Given the description of an element on the screen output the (x, y) to click on. 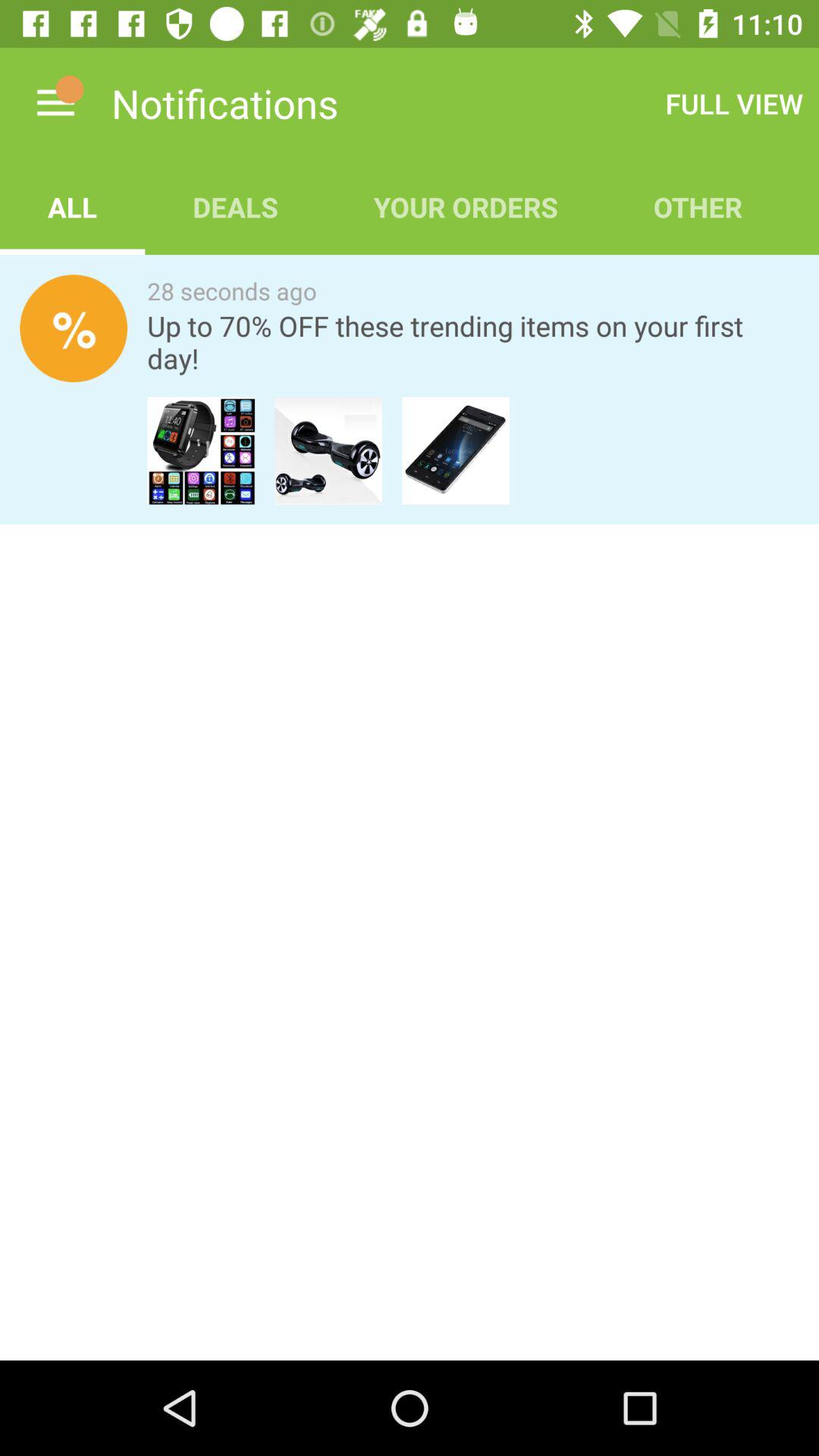
press icon to the left of notifications item (55, 103)
